Given the description of an element on the screen output the (x, y) to click on. 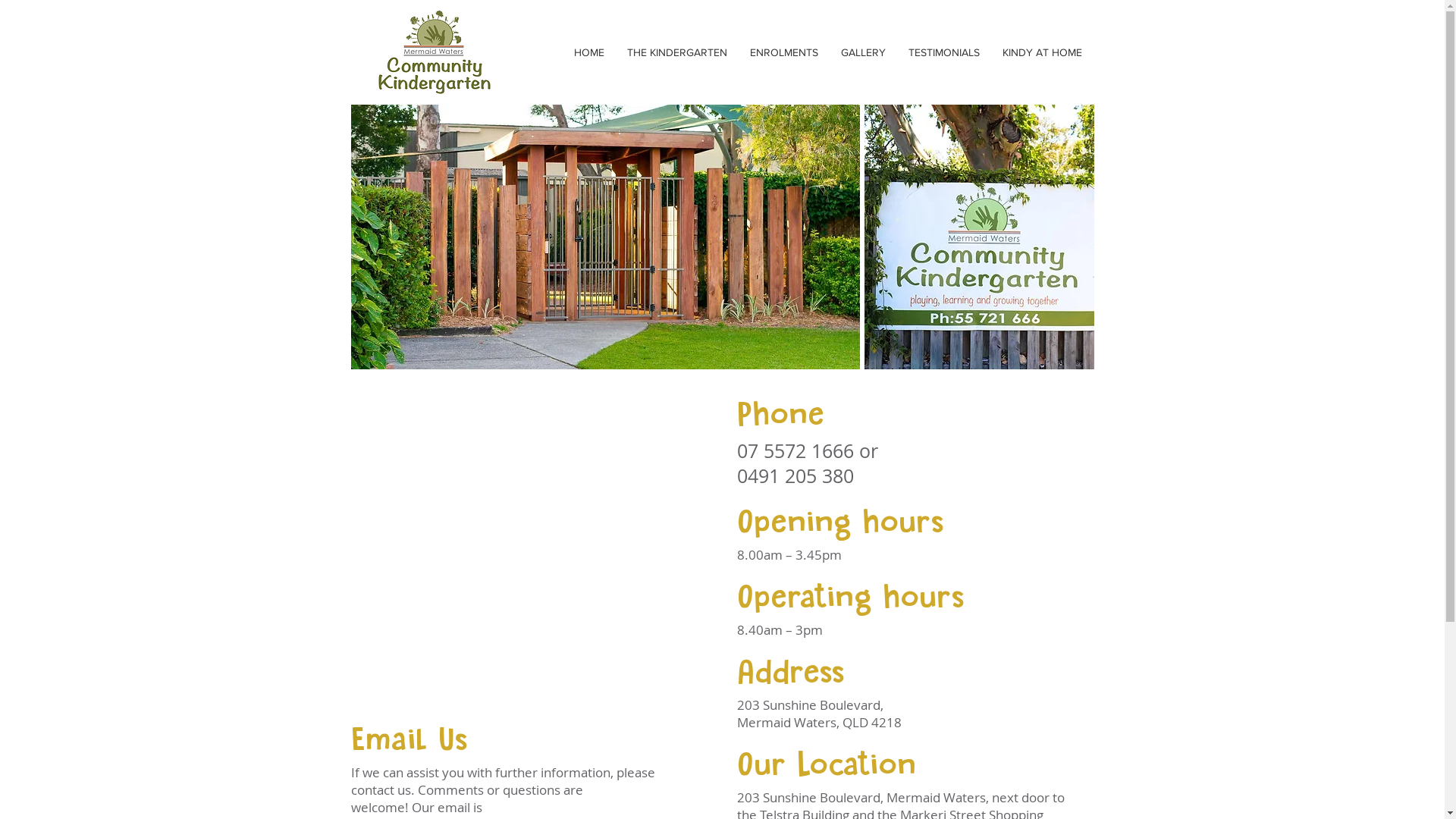
TESTIMONIALS Element type: text (943, 52)
Google Maps Element type: hover (531, 550)
ENROLMENTS Element type: text (783, 52)
HOME Element type: text (588, 52)
KINDY AT HOME Element type: text (1041, 52)
GALLERY Element type: text (863, 52)
